Given the description of an element on the screen output the (x, y) to click on. 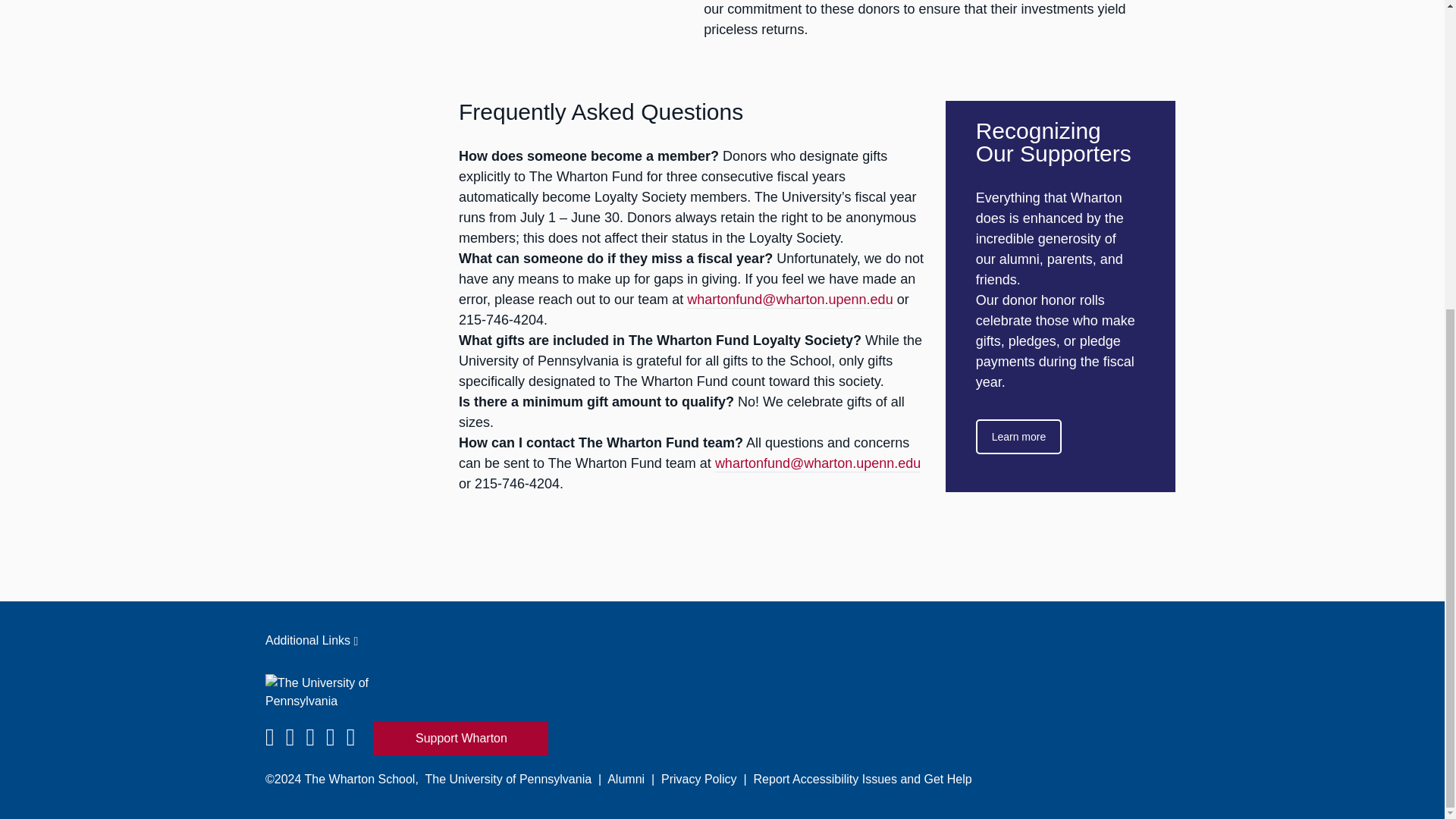
Alumni (626, 779)
Additional Links (721, 640)
Give to Wharton (461, 738)
